Given the description of an element on the screen output the (x, y) to click on. 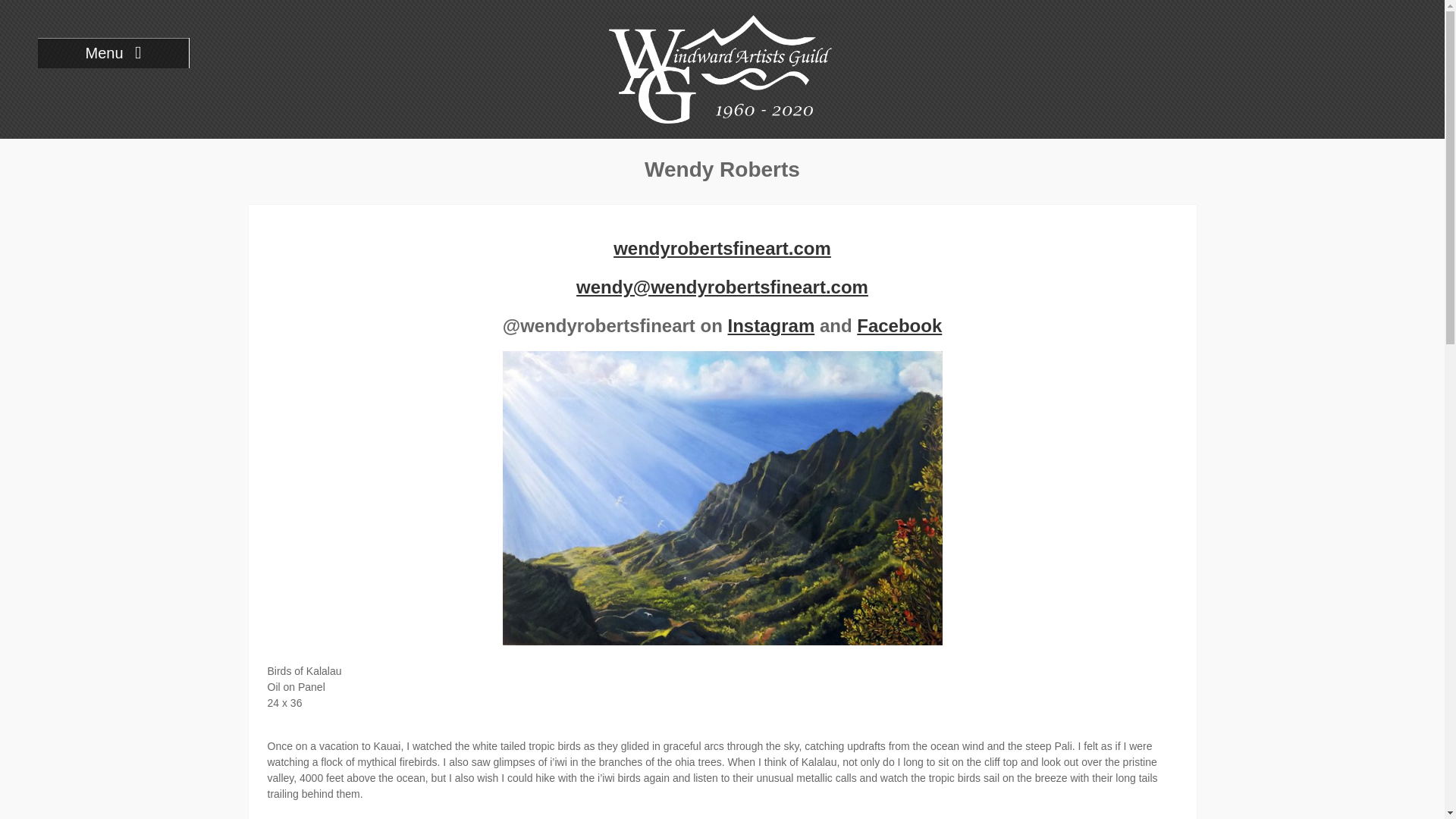
Menu (113, 52)
